Given the description of an element on the screen output the (x, y) to click on. 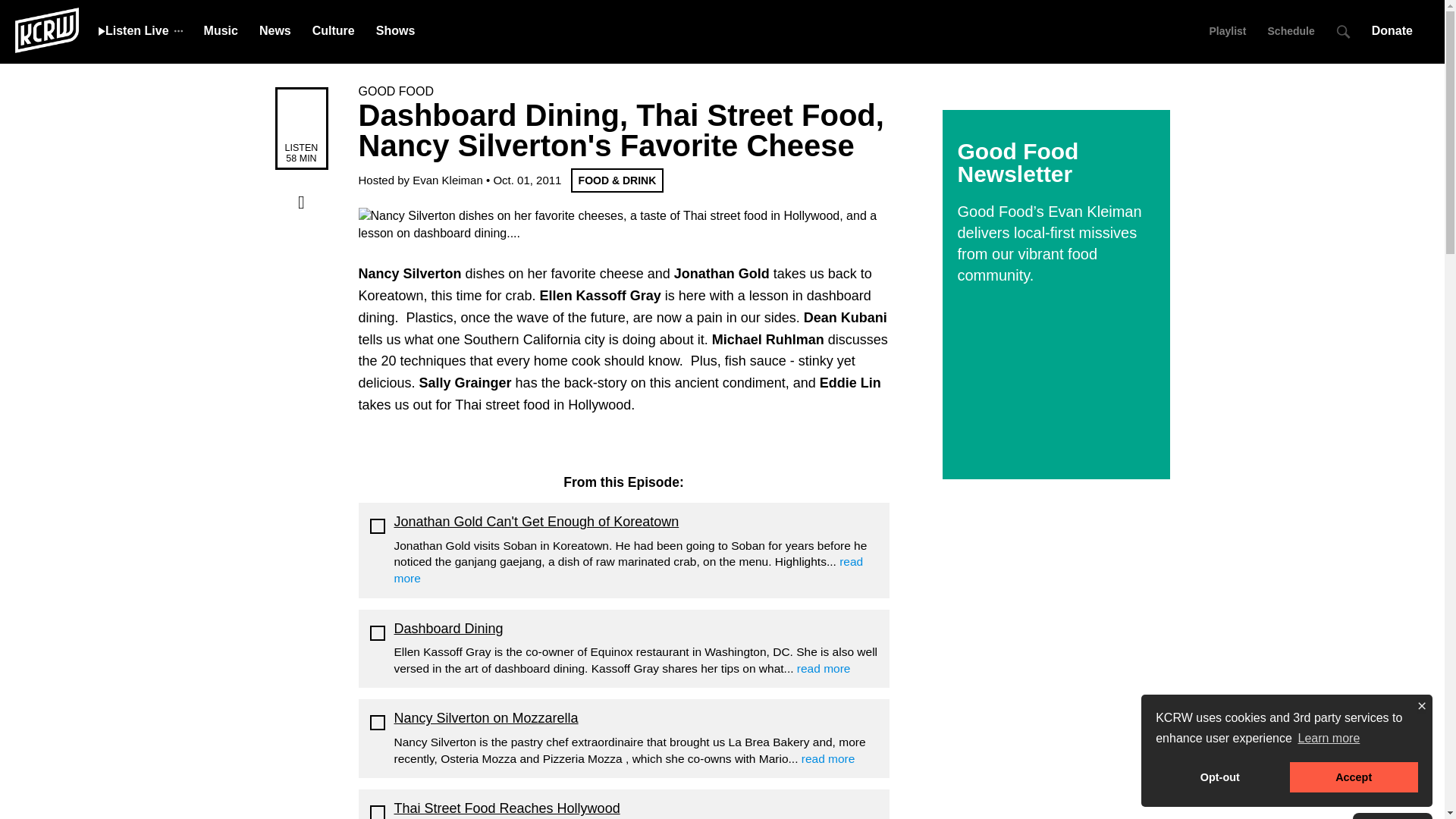
Download Audio (301, 233)
Playlist (1227, 30)
Learn more (1328, 738)
Culture (334, 30)
Accept (1354, 777)
News (275, 30)
Opt-out (1220, 777)
Schedule (1291, 30)
Donate (1397, 30)
GOOD FOOD (395, 91)
Share on Facebook (301, 202)
Get embed code (301, 295)
Music (220, 30)
